Given the description of an element on the screen output the (x, y) to click on. 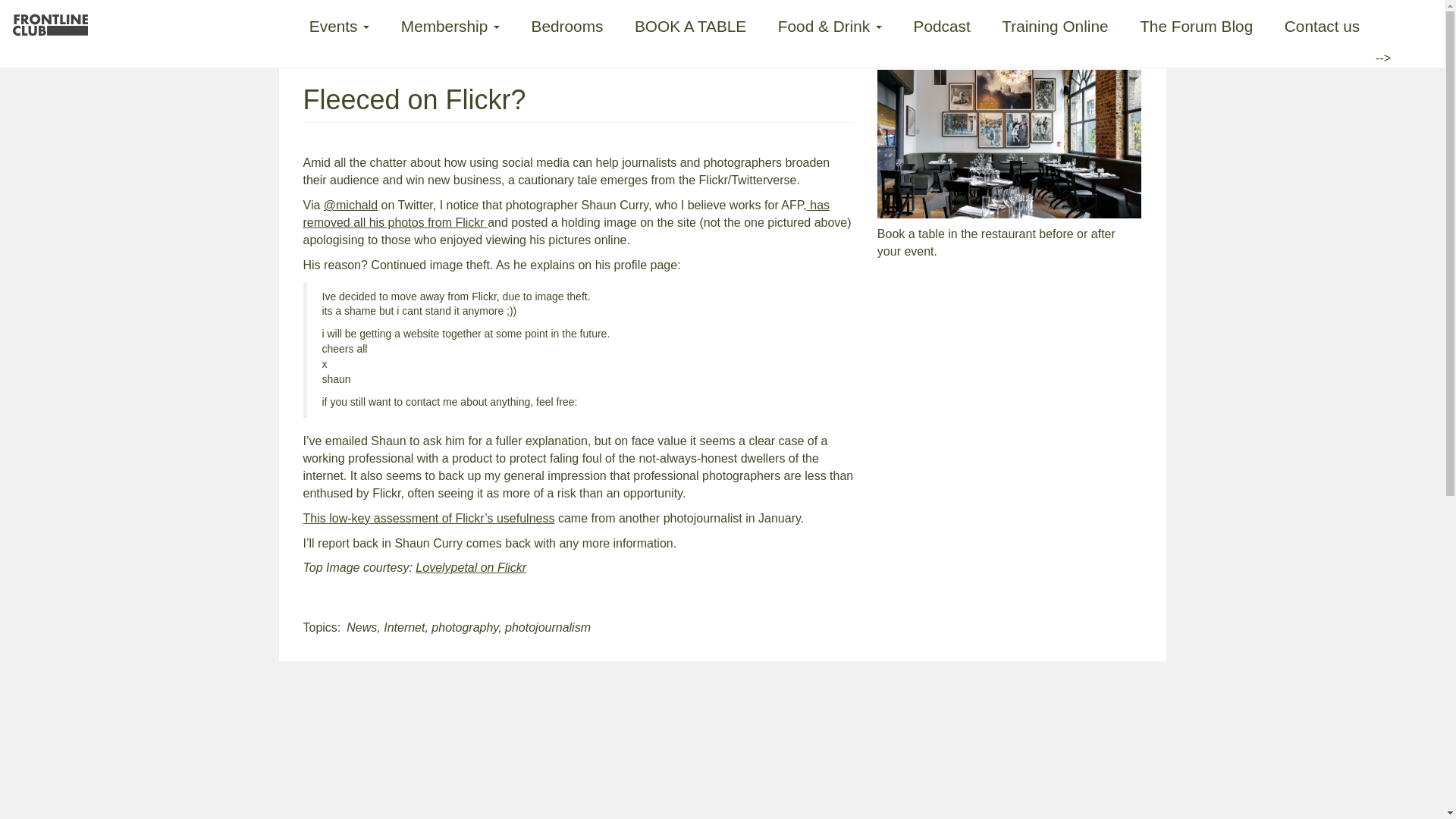
Events (339, 24)
BOOK A TABLE (689, 24)
Events (339, 24)
News (361, 626)
Book a table in the restaurant before or after your event. (1009, 243)
Bedrooms (566, 24)
Contact us (1321, 24)
Membership (450, 24)
Bedrooms (566, 24)
Internet (404, 626)
Membership (450, 24)
Podcast (942, 24)
Training Online (1054, 24)
Lovelypetal on Flickr (469, 567)
